Given the description of an element on the screen output the (x, y) to click on. 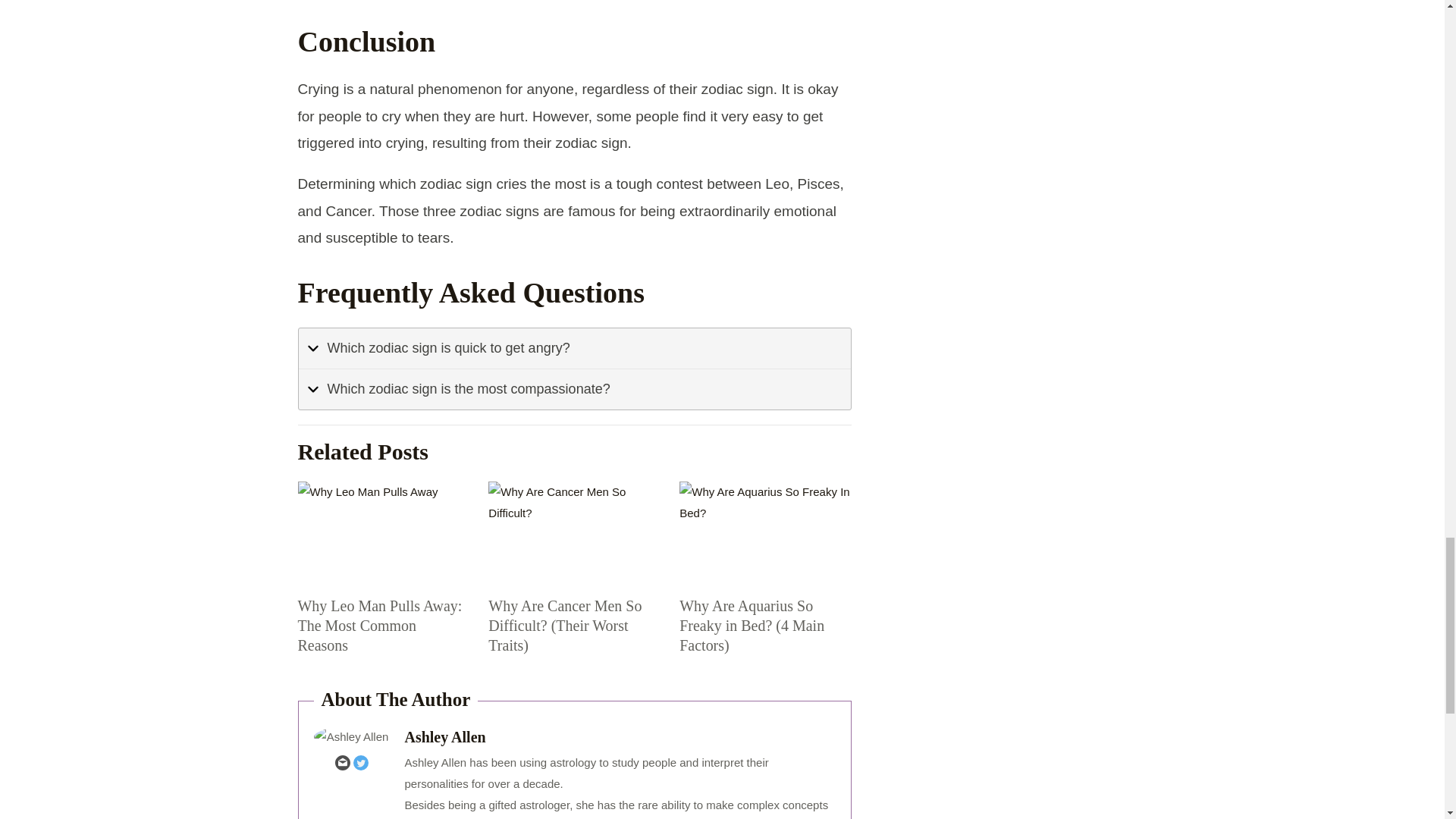
Why Leo Man Pulls Away: The Most Common Reasons (382, 532)
Why Leo Man Pulls Away: The Most Common Reasons (379, 625)
Ashley Allen (619, 736)
